Given the description of an element on the screen output the (x, y) to click on. 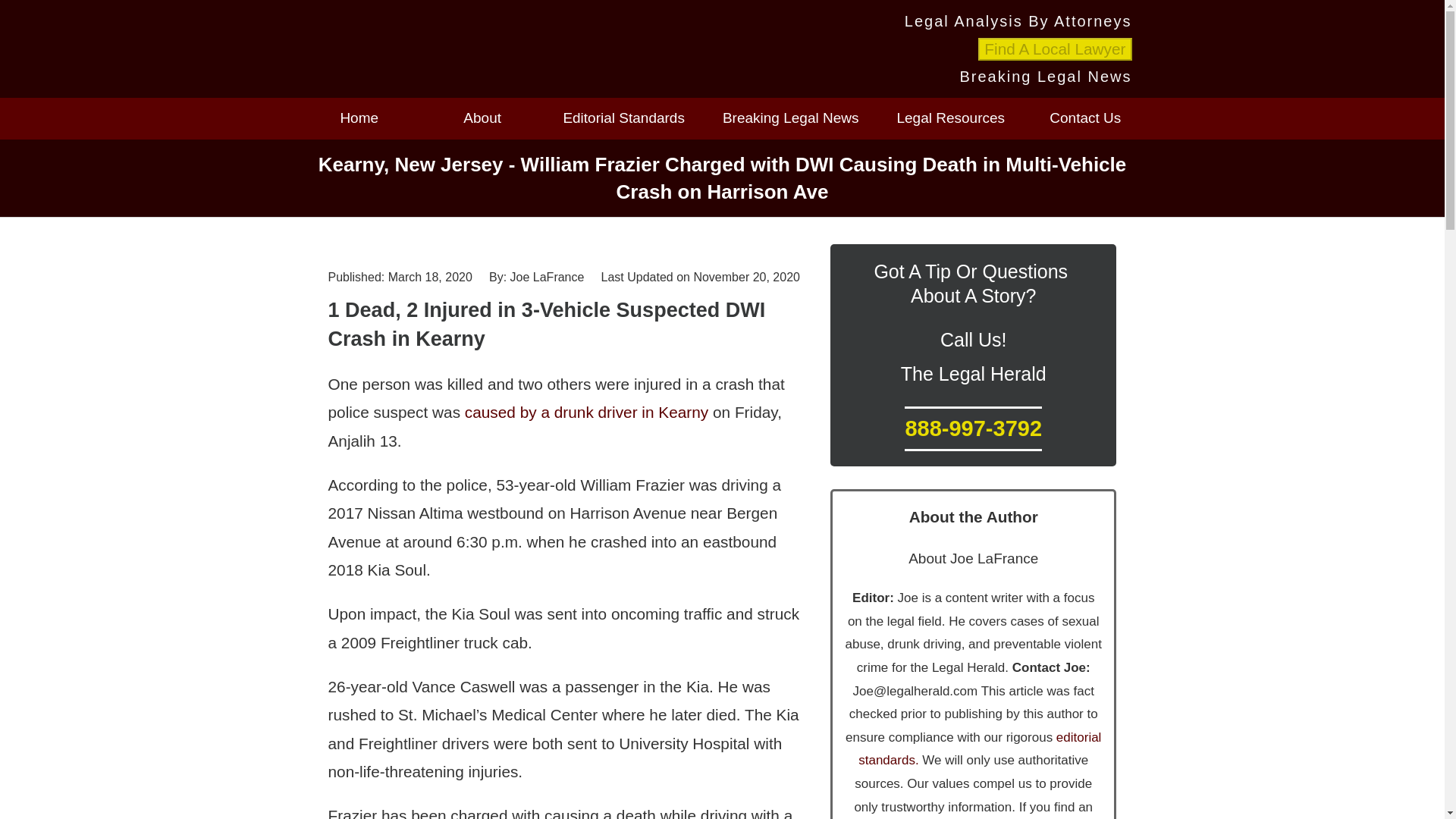
Breaking Legal News (790, 117)
Home (358, 117)
Editorial Standards (623, 117)
caused by a drunk driver in Kearny (585, 411)
editorial standards. (979, 749)
888-997-3792 (973, 428)
Find A Local Lawyer (1054, 48)
Legal Resources (950, 117)
Contact Us (1084, 117)
About (481, 117)
